Given the description of an element on the screen output the (x, y) to click on. 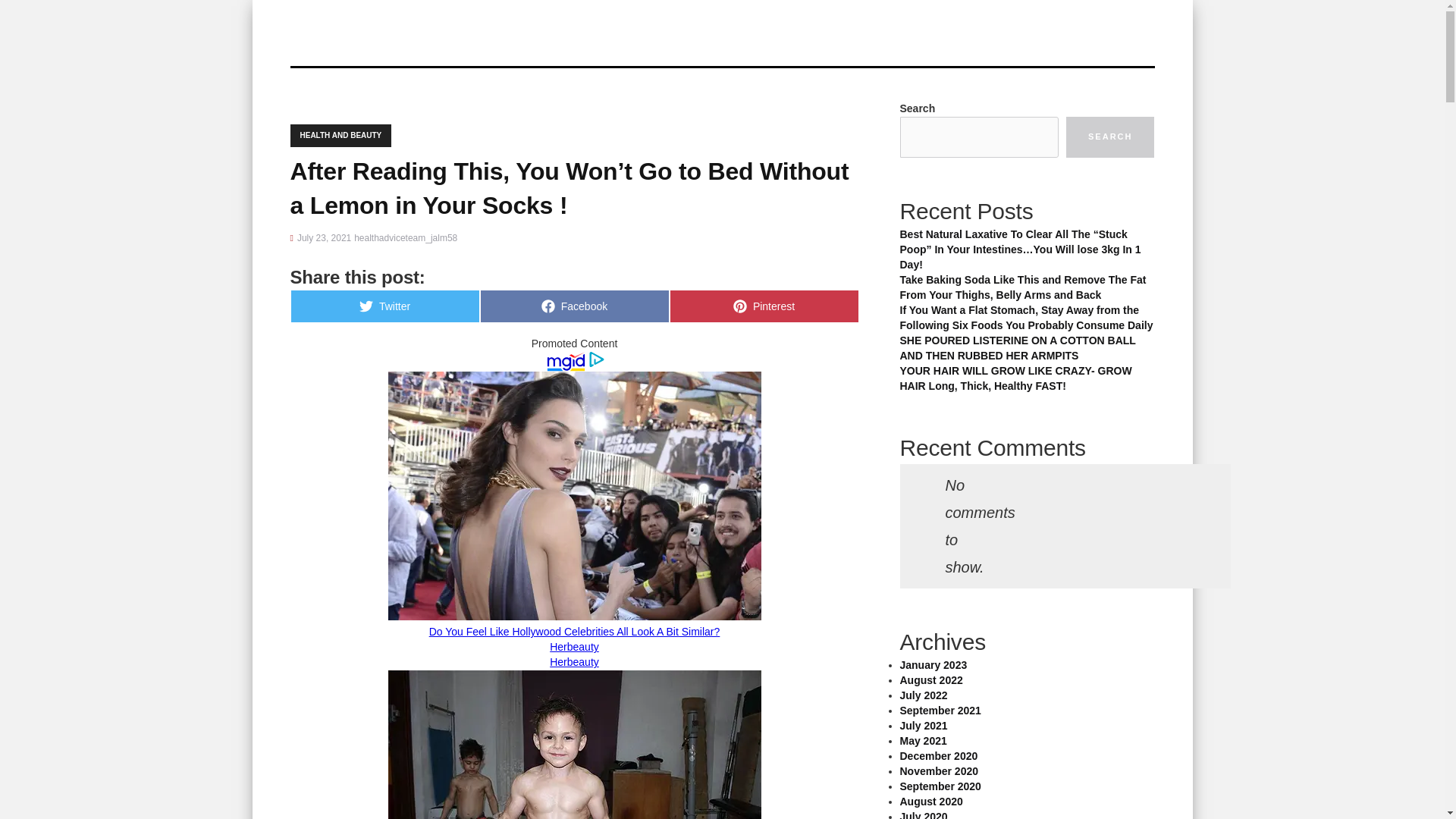
September 2021 (939, 710)
August 2020 (930, 801)
May 2021 (922, 740)
August 2022 (930, 680)
July 2021 (763, 305)
SEARCH (923, 725)
September 2020 (1109, 137)
HEALTH AND BEAUTY (939, 786)
July 2020 (340, 135)
January 2023 (923, 814)
July 2022 (932, 664)
